Given the description of an element on the screen output the (x, y) to click on. 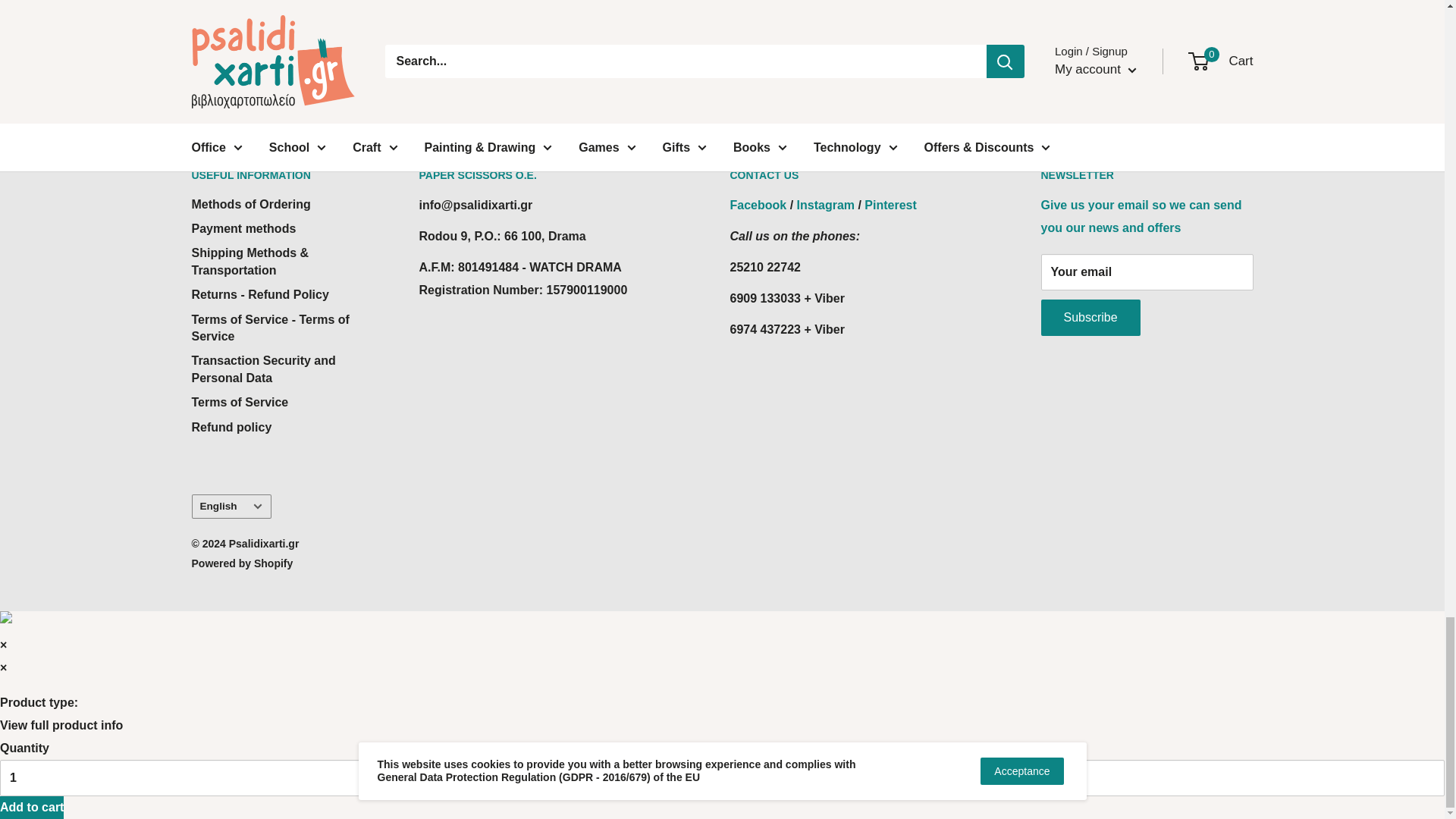
Member Registration (1141, 216)
environmental awareness (317, 40)
Member Registration (592, 40)
Returns Policy (864, 40)
Transaction Security and Personal Data (1158, 59)
